Given the description of an element on the screen output the (x, y) to click on. 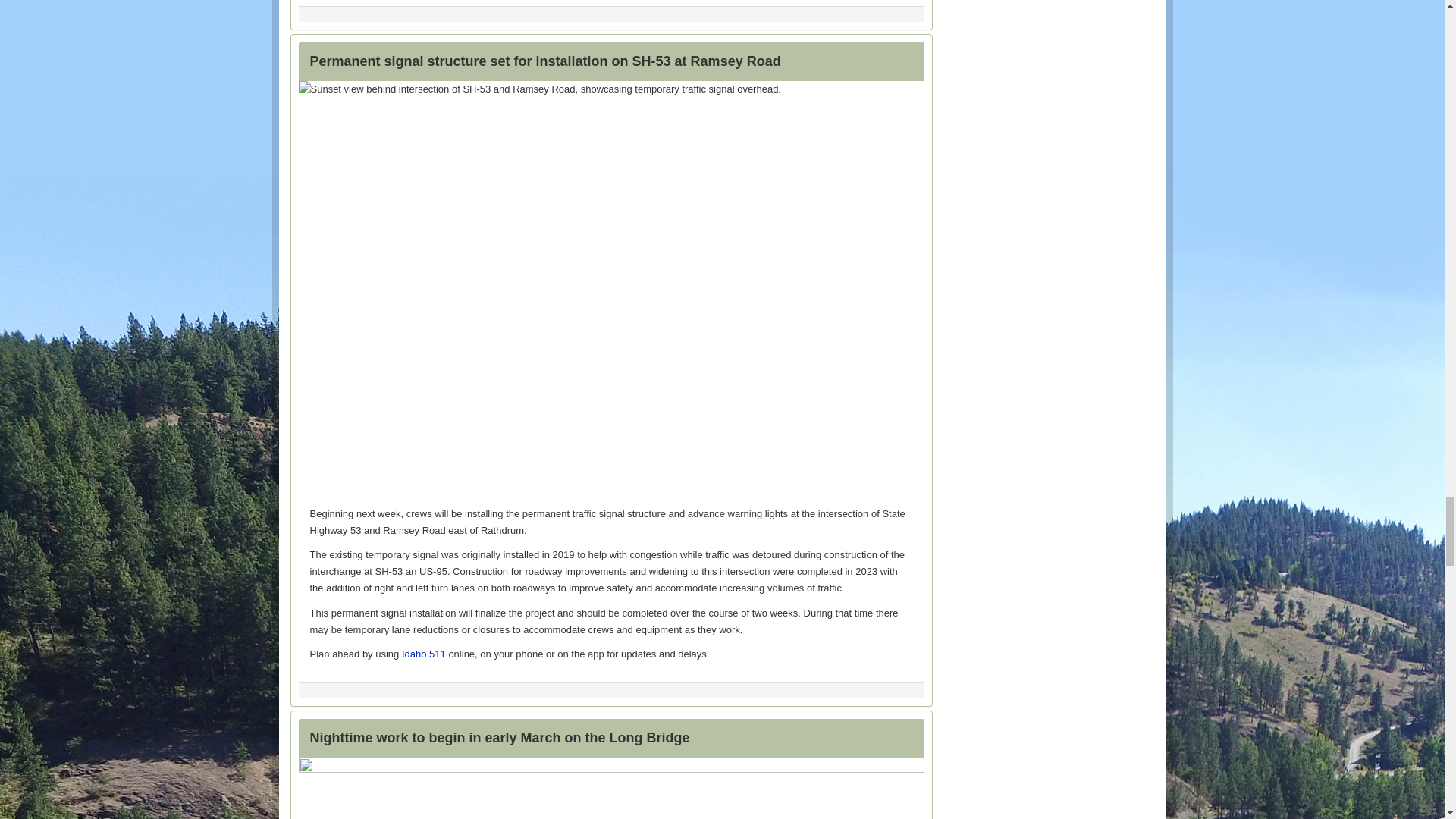
Idaho 511 (423, 654)
Nighttime work to begin in early March on the Long Bridge (498, 737)
